Given the description of an element on the screen output the (x, y) to click on. 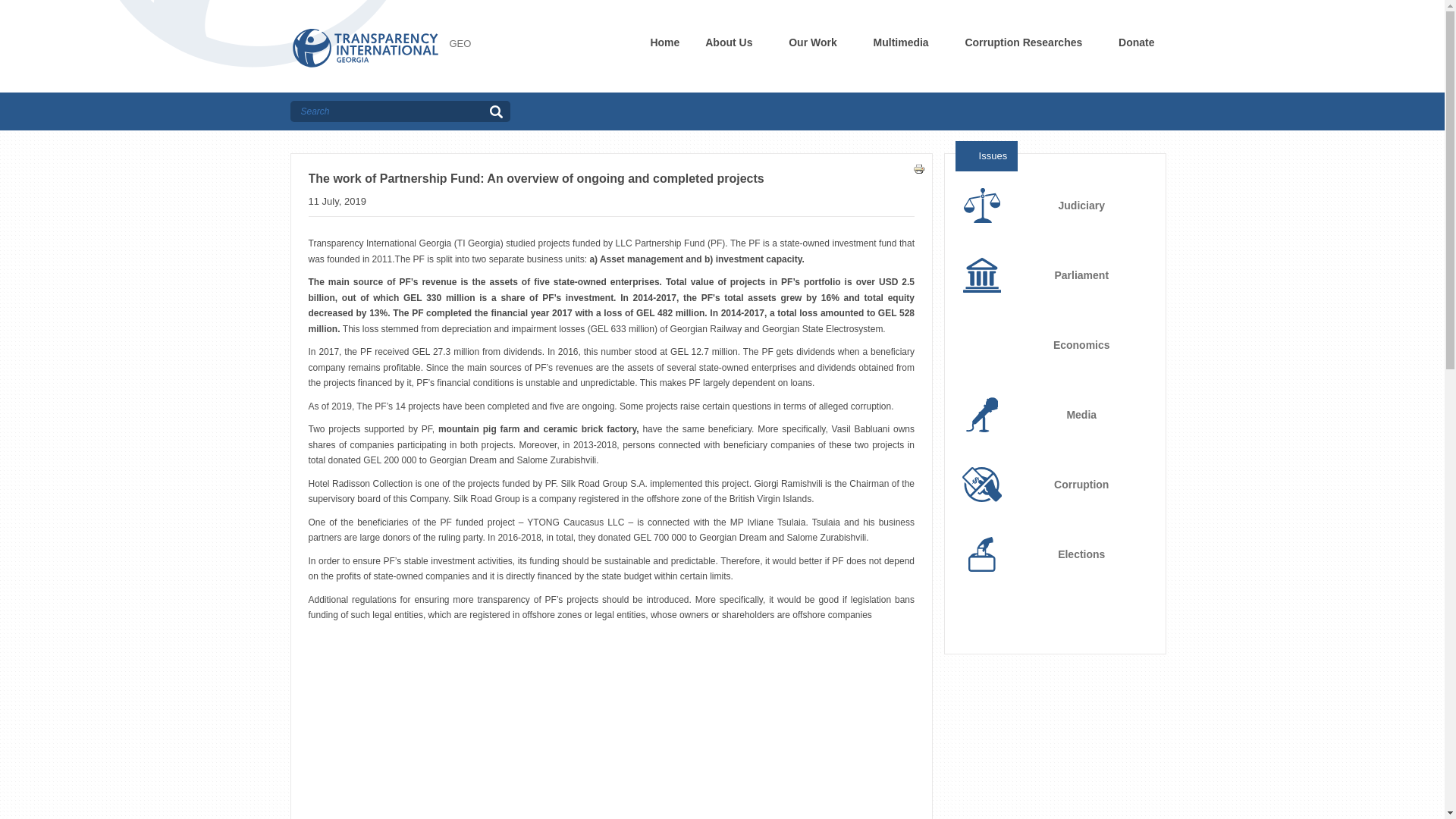
Enter the terms you wish to search for. (386, 111)
print (918, 168)
Display a printer-friendly version of this page. (918, 167)
GEO (459, 43)
